Given the description of an element on the screen output the (x, y) to click on. 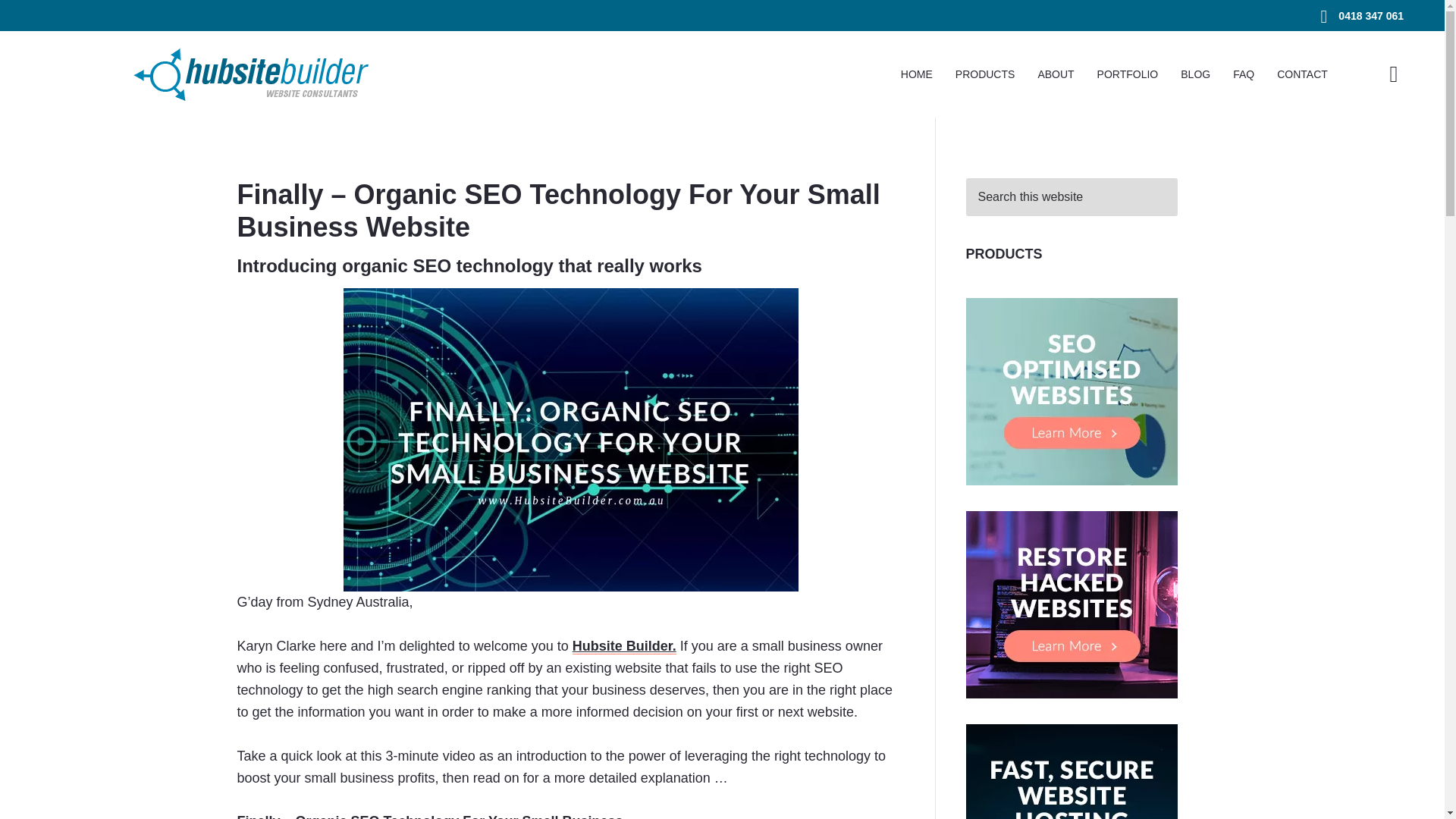
PORTFOLIO (1128, 74)
PRODUCTS (984, 74)
CONTACT (1302, 74)
ABOUT (1055, 74)
hubsite-builder-website-consultants-logo (251, 74)
0418 347 061 (1370, 16)
Hubsite Builder. (624, 646)
FAQ (1243, 74)
